Given the description of an element on the screen output the (x, y) to click on. 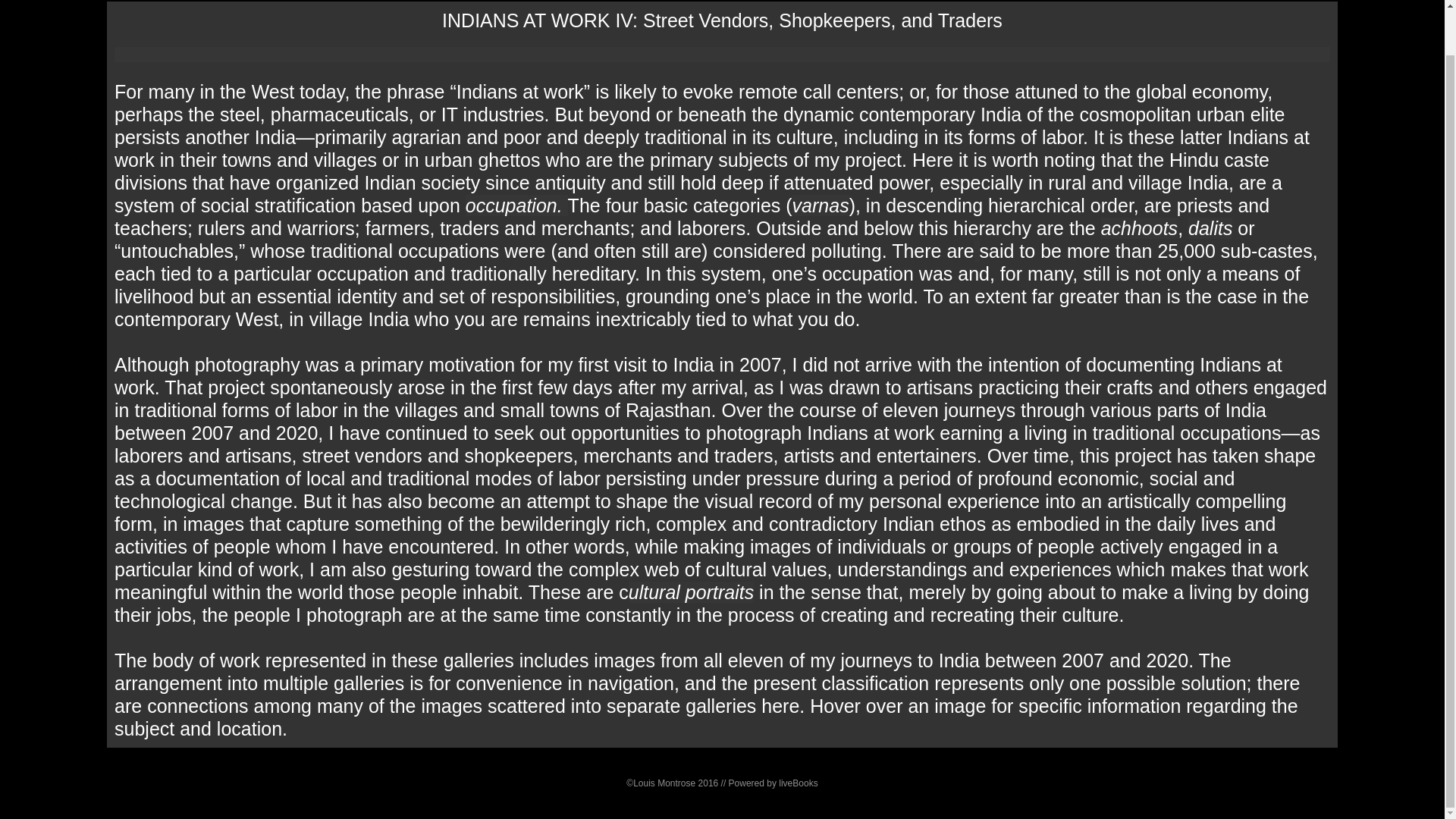
liveBooks (797, 783)
